Given the description of an element on the screen output the (x, y) to click on. 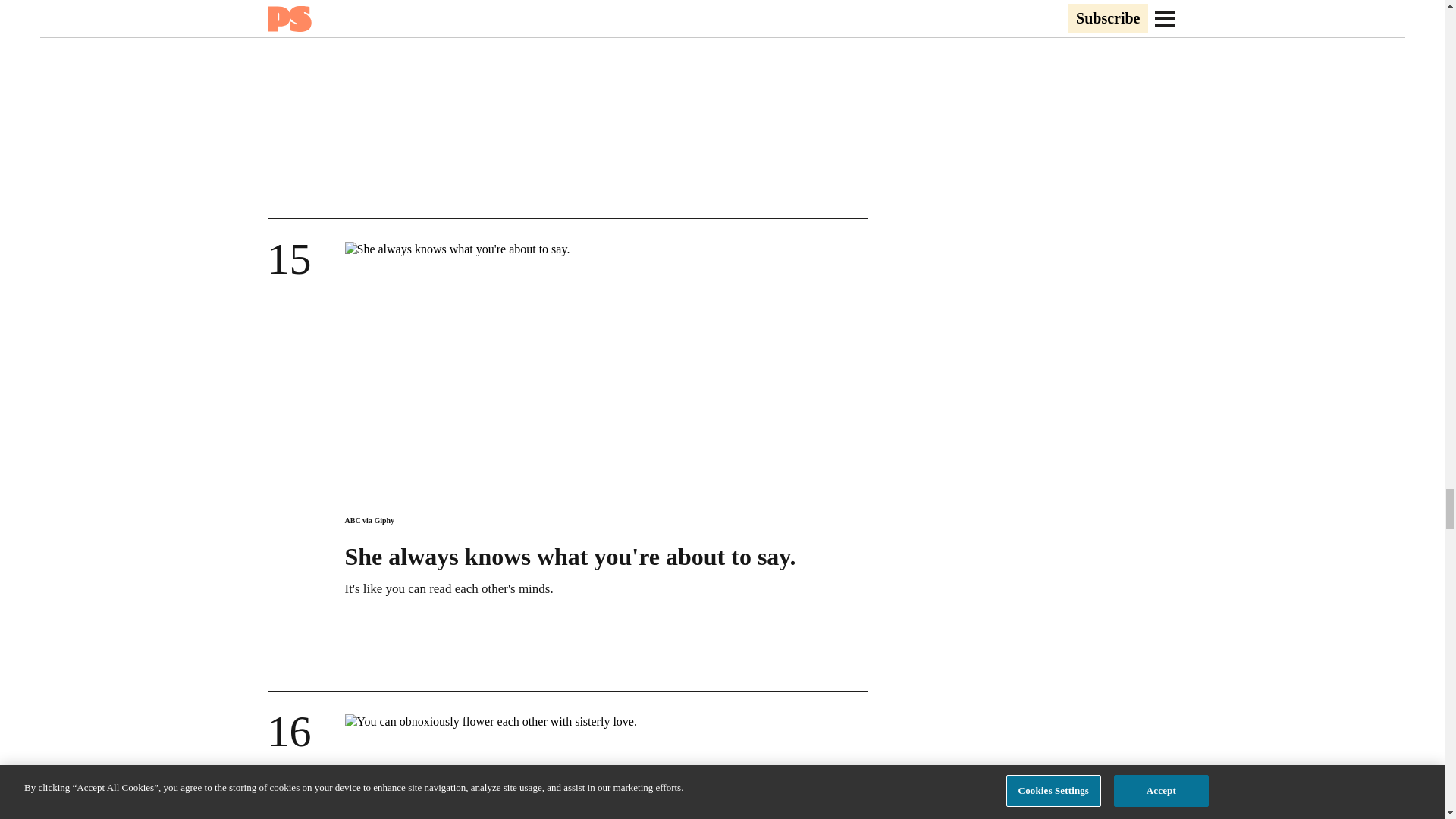
ABC via Giphy (368, 520)
